Given the description of an element on the screen output the (x, y) to click on. 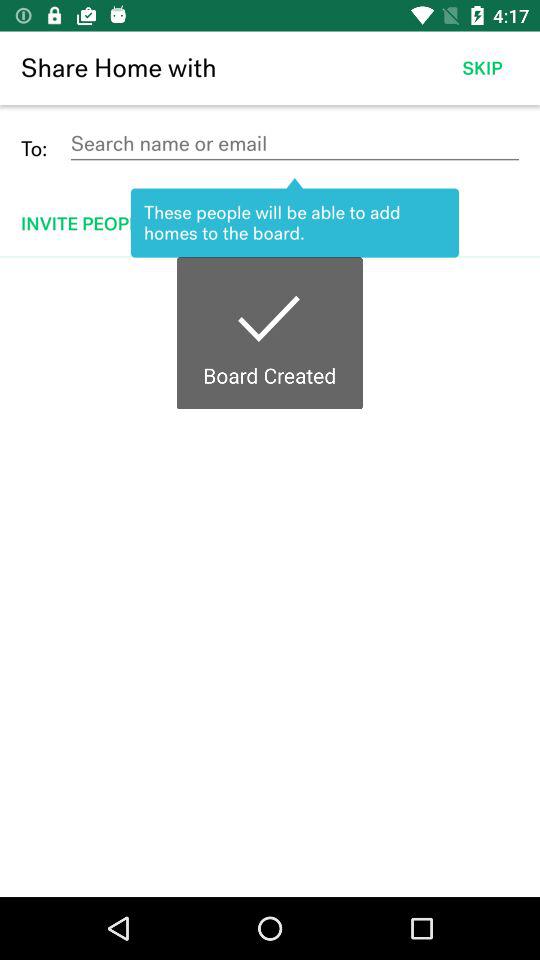
enter name/email detail to share home (294, 144)
